Given the description of an element on the screen output the (x, y) to click on. 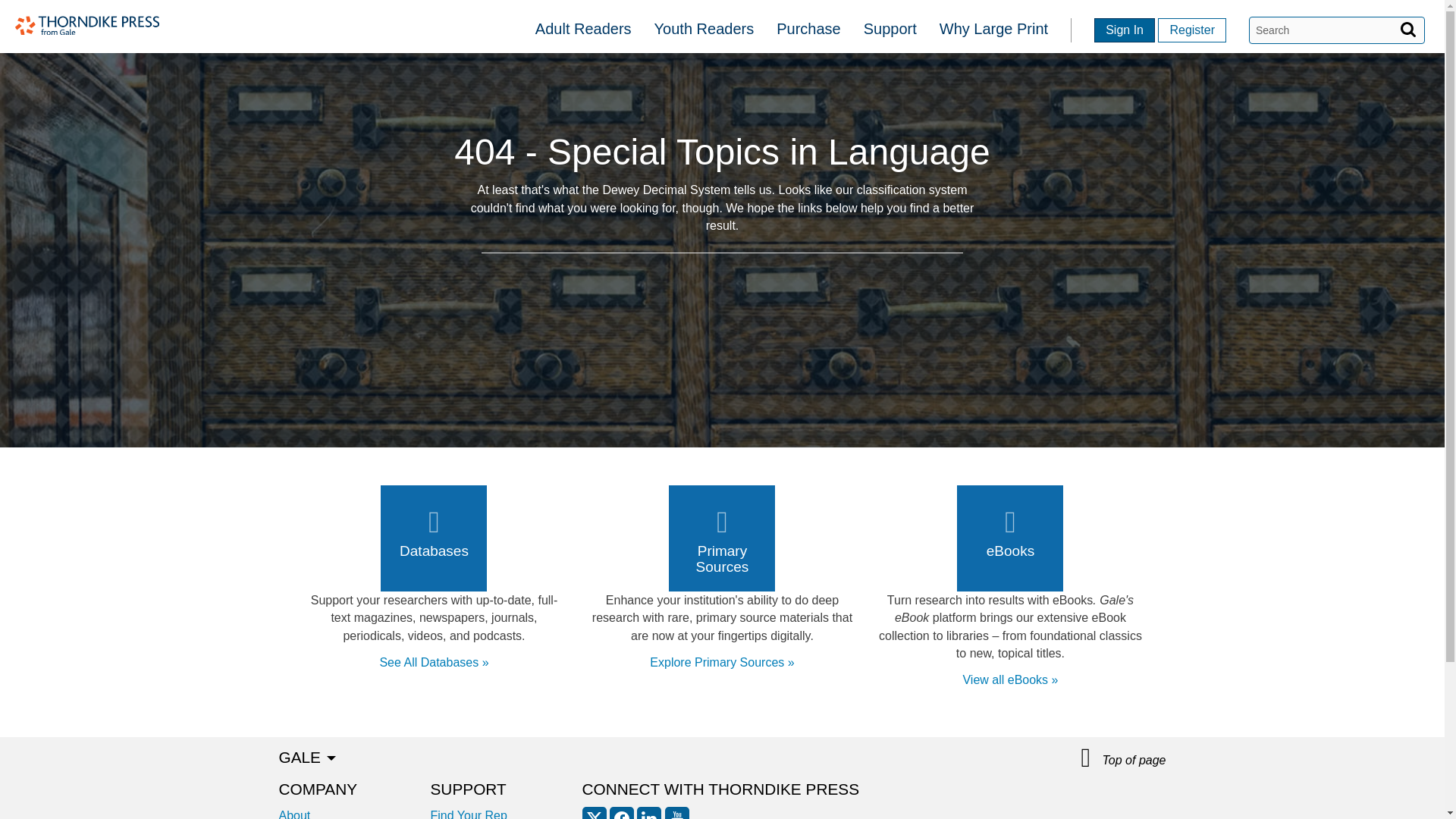
Top of page (1123, 758)
Top of page (1123, 758)
